Given the description of an element on the screen output the (x, y) to click on. 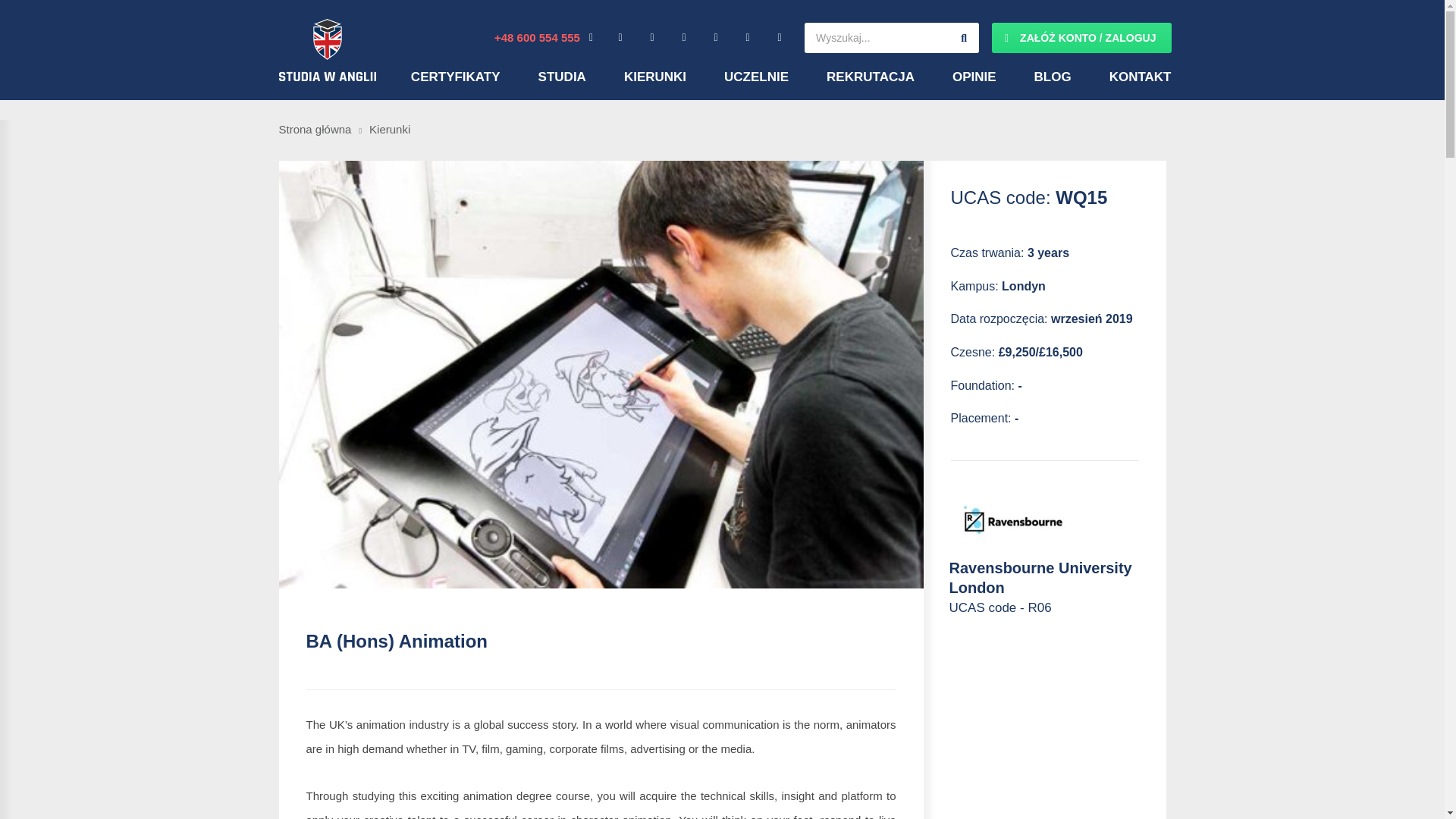
BLOG (1052, 76)
Kierunki (389, 128)
OPINIE (973, 76)
UCZELNIE (756, 76)
CERTYFIKATY (455, 76)
KIERUNKI (654, 76)
STUDIA (562, 76)
REKRUTACJA (870, 76)
KONTAKT (1140, 76)
